Given the description of an element on the screen output the (x, y) to click on. 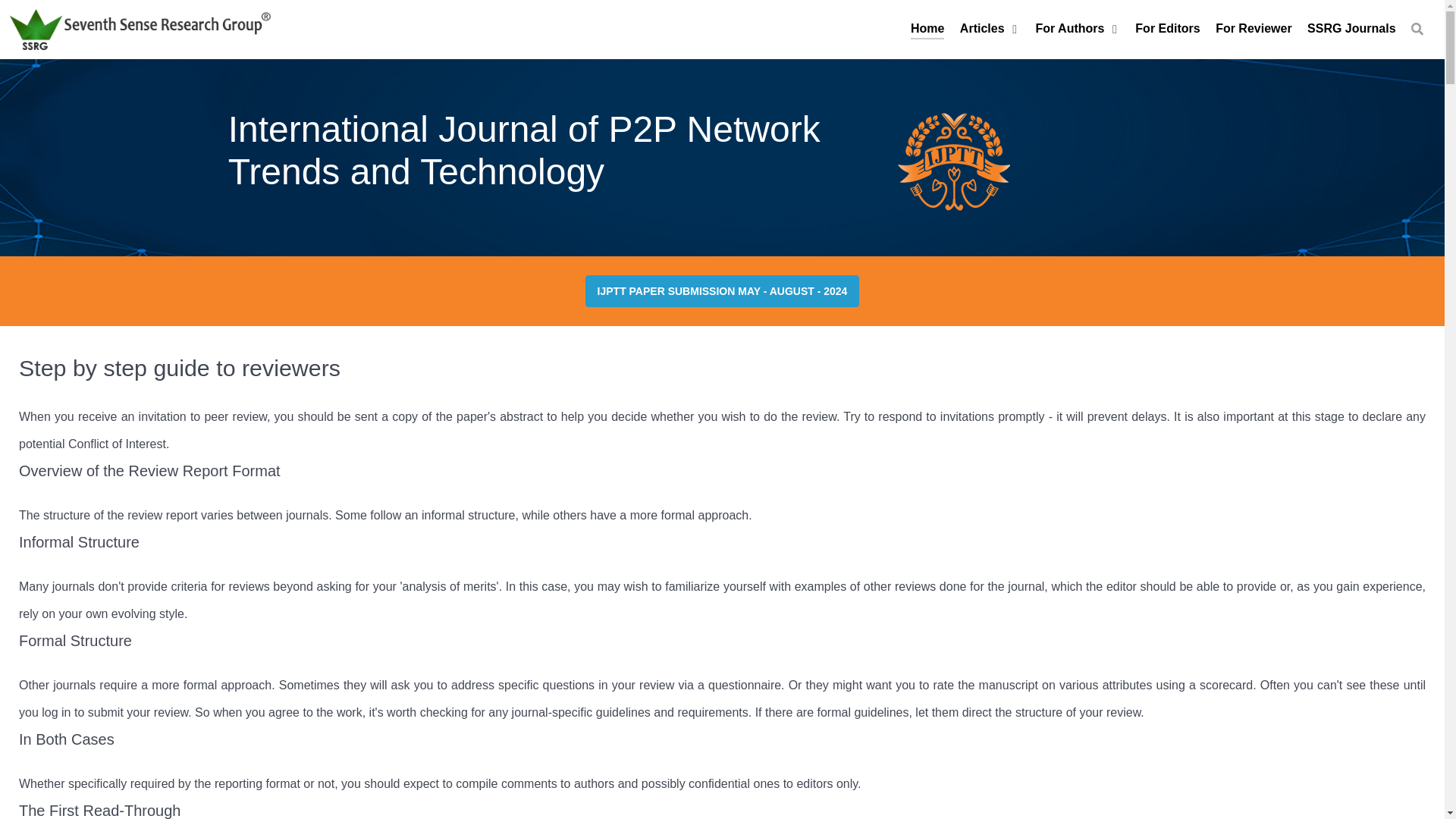
For Authors (1077, 29)
For Reviewer (1253, 29)
Articles (989, 29)
For Editors (1167, 29)
SSRG Journals (1350, 29)
IJPTT PAPER SUBMISSION MAY - AUGUST - 2024 (722, 291)
